Given the description of an element on the screen output the (x, y) to click on. 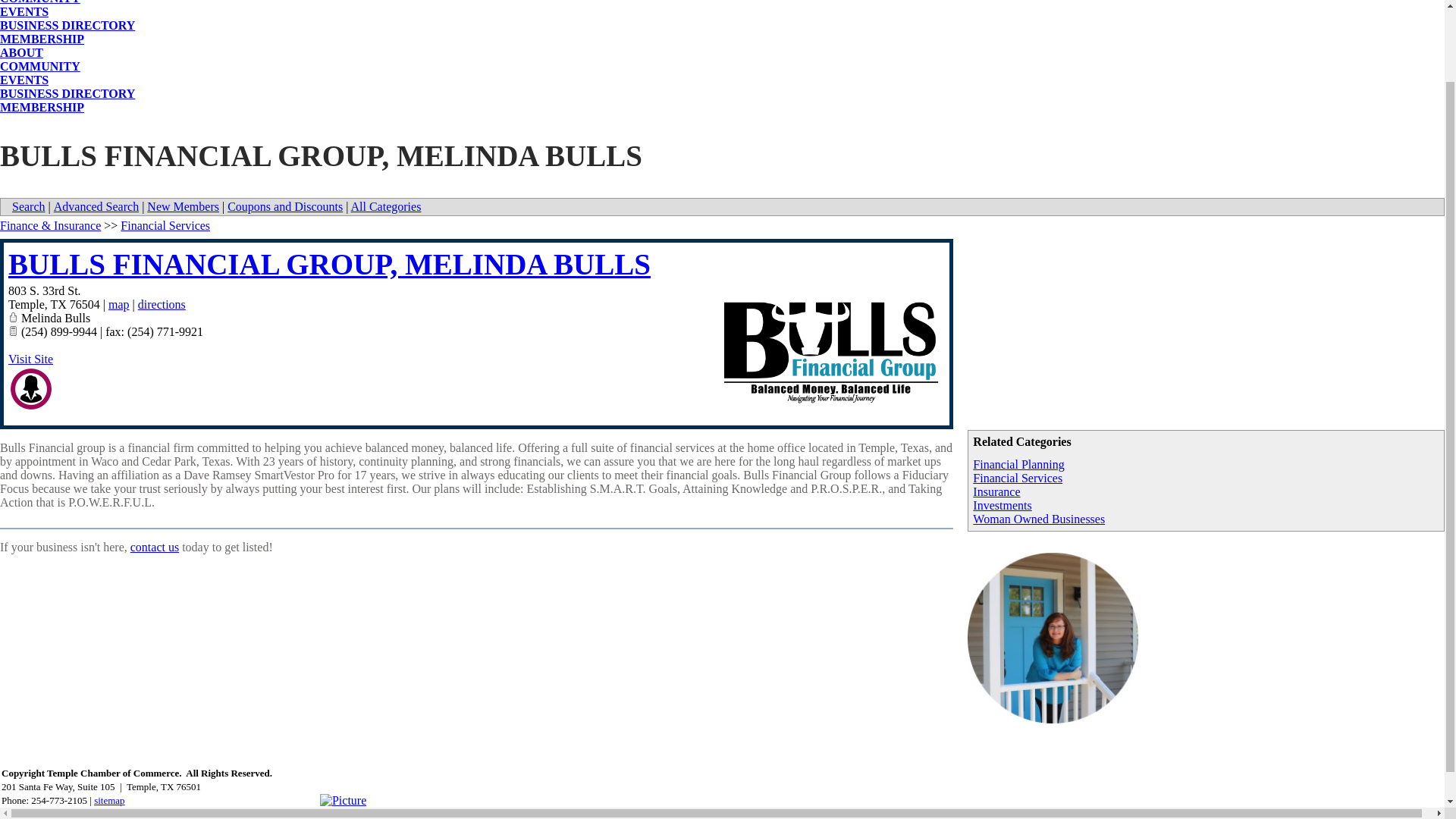
MEMBERSHIP (42, 38)
EVENTS (24, 11)
ABOUT (21, 51)
BUSINESS DIRECTORY (67, 24)
COMMUNITY (40, 65)
COMMUNITY (40, 2)
Woman Owned (30, 388)
